Given the description of an element on the screen output the (x, y) to click on. 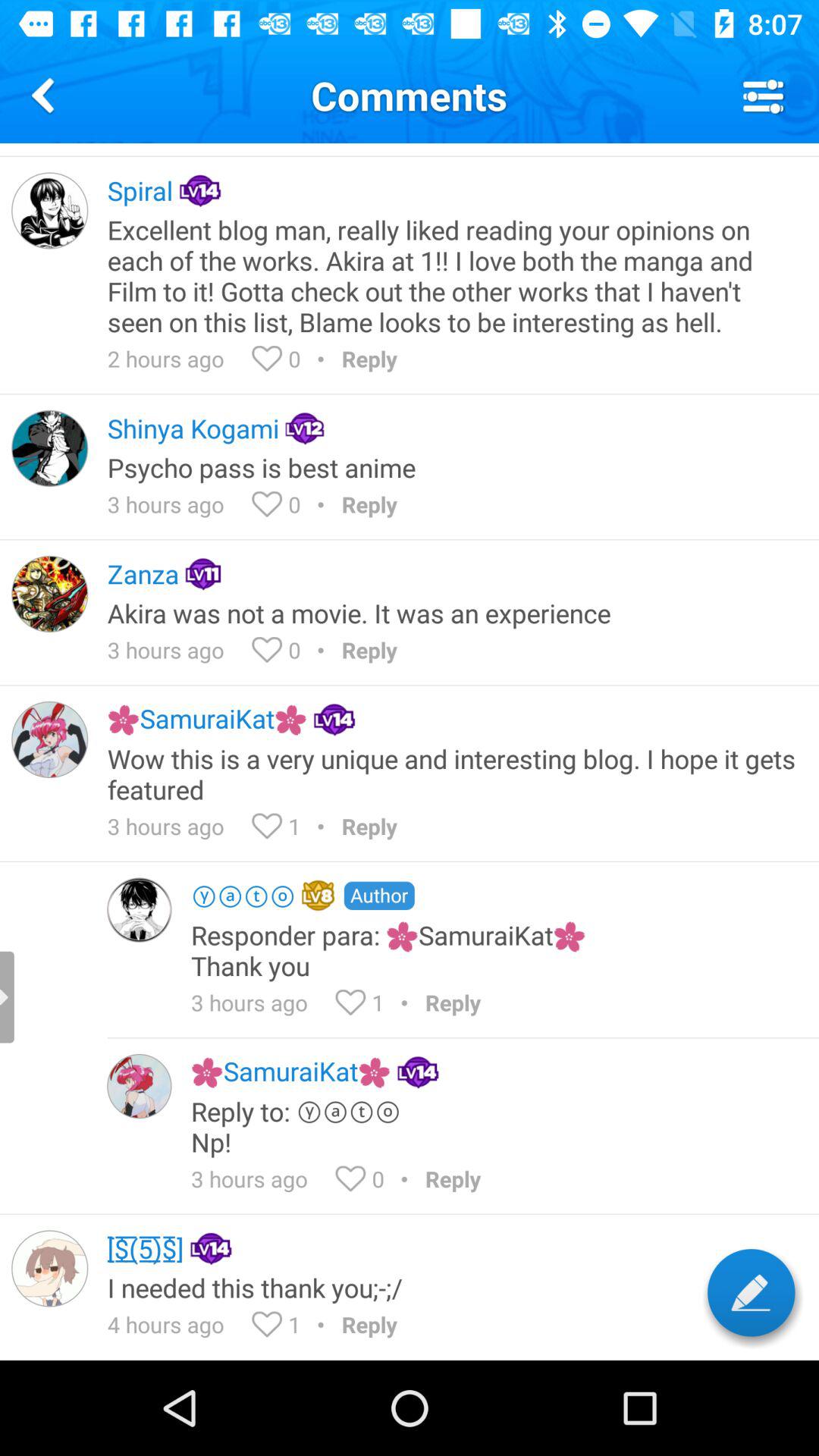
choose responder para samuraikat (495, 950)
